Given the description of an element on the screen output the (x, y) to click on. 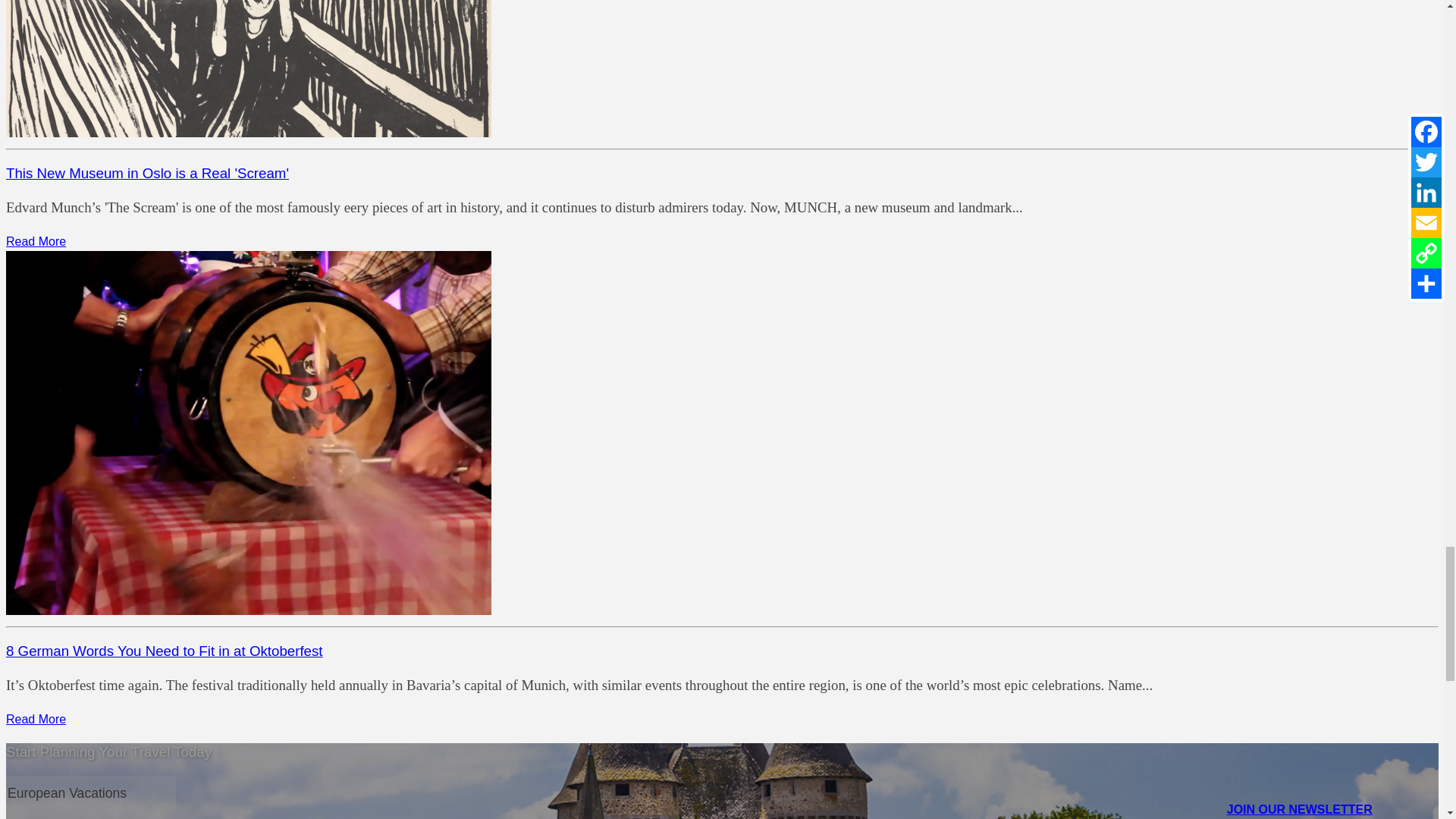
8 German Words You Need to Fit in at Oktoberfest (164, 650)
Read More (35, 718)
GET STARTED (52, 815)
Read More (35, 241)
This New Museum in Oslo is a Real 'Scream' (146, 172)
European Vacations (90, 793)
